Given the description of an element on the screen output the (x, y) to click on. 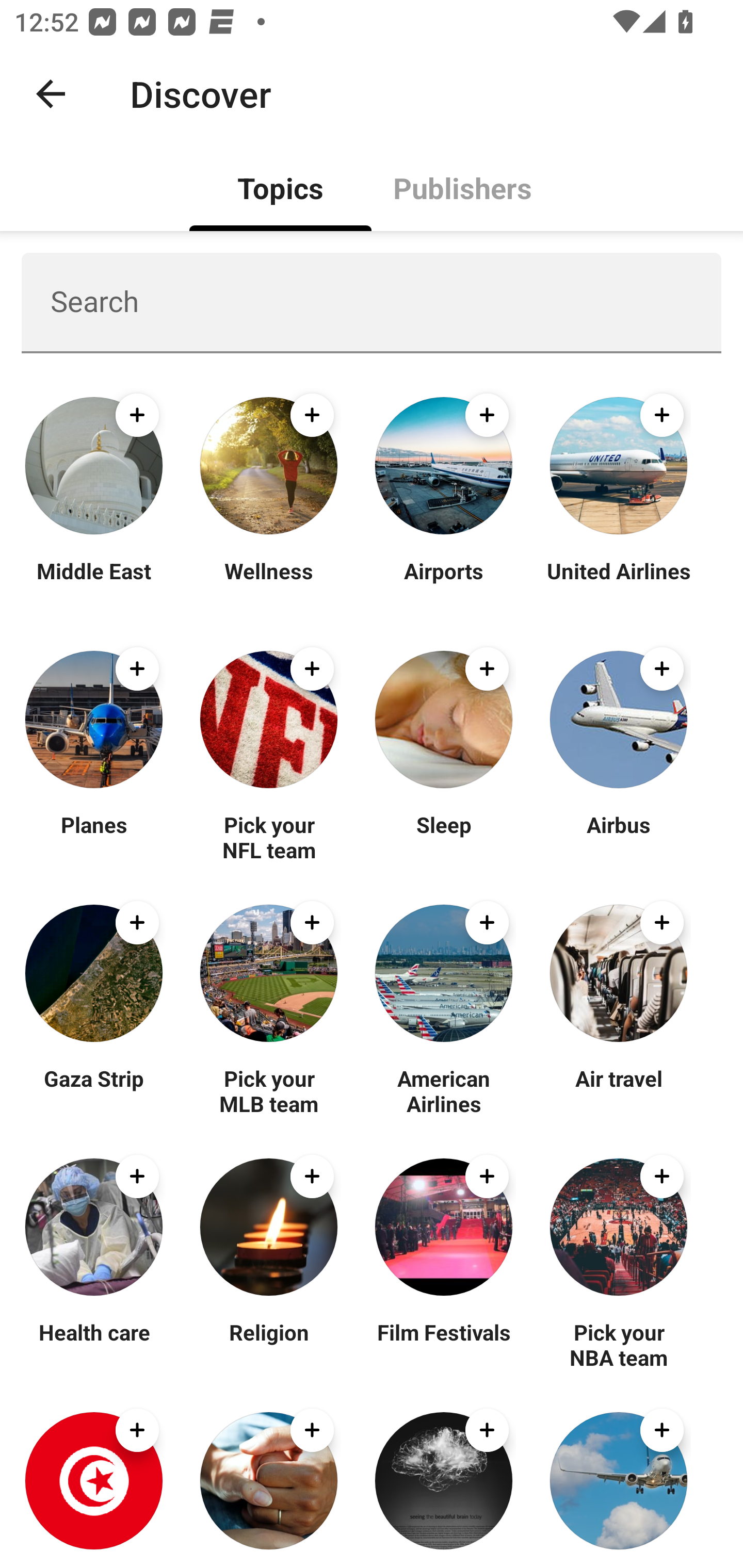
Publishers (462, 187)
Search (371, 302)
Middle East (93, 582)
Wellness (268, 582)
Airports (443, 582)
United Airlines (618, 582)
Planes (93, 836)
Pick your NFL team (268, 836)
Sleep (443, 836)
Airbus (618, 836)
Gaza Strip (93, 1090)
Pick your MLB team (268, 1090)
American Airlines (443, 1090)
Air travel (618, 1090)
Health care (93, 1344)
Religion (268, 1344)
Film Festivals (443, 1344)
Pick your NBA team (618, 1344)
